Given the description of an element on the screen output the (x, y) to click on. 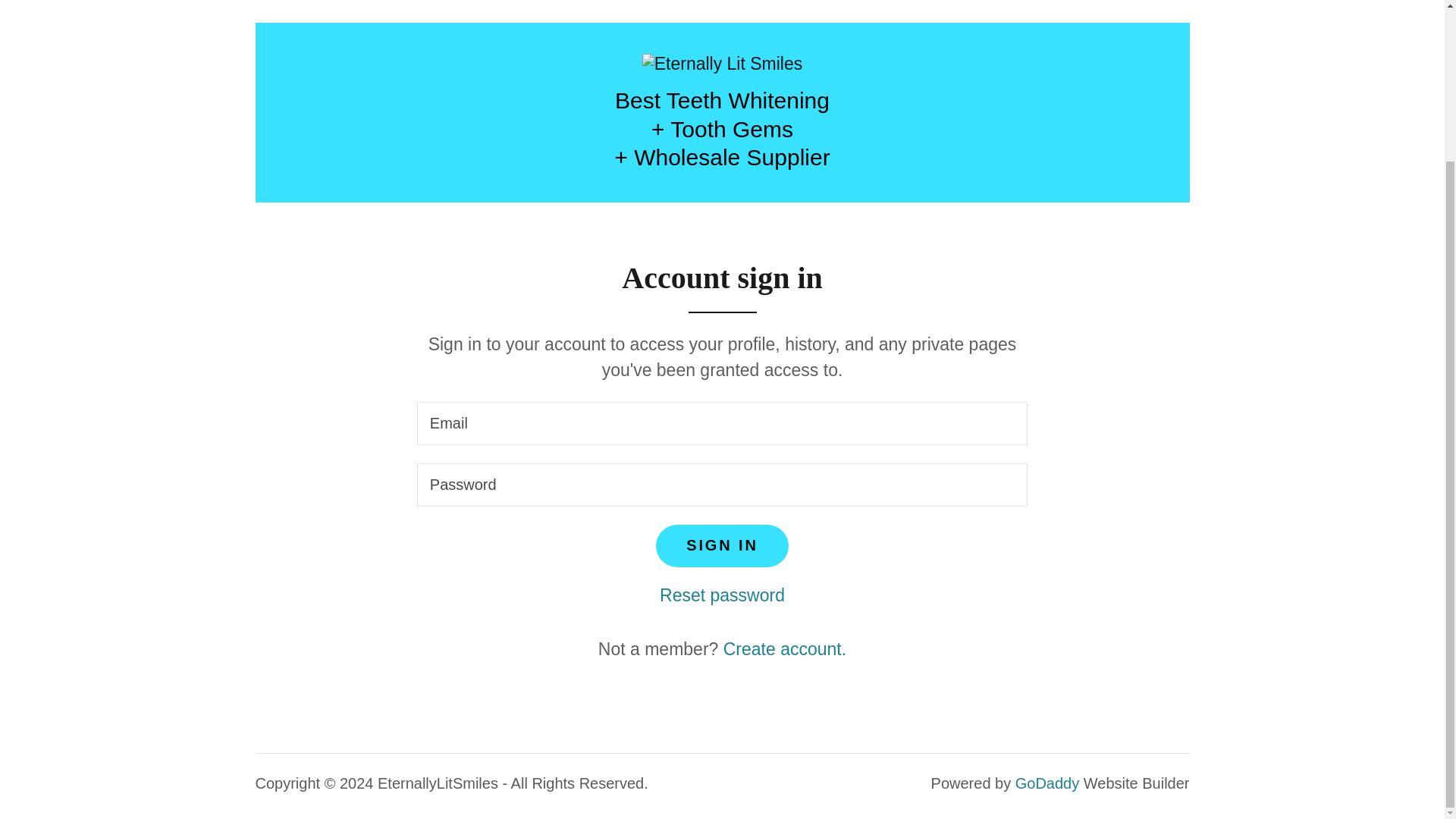
Eternally Lit Smiles (722, 62)
